Given the description of an element on the screen output the (x, y) to click on. 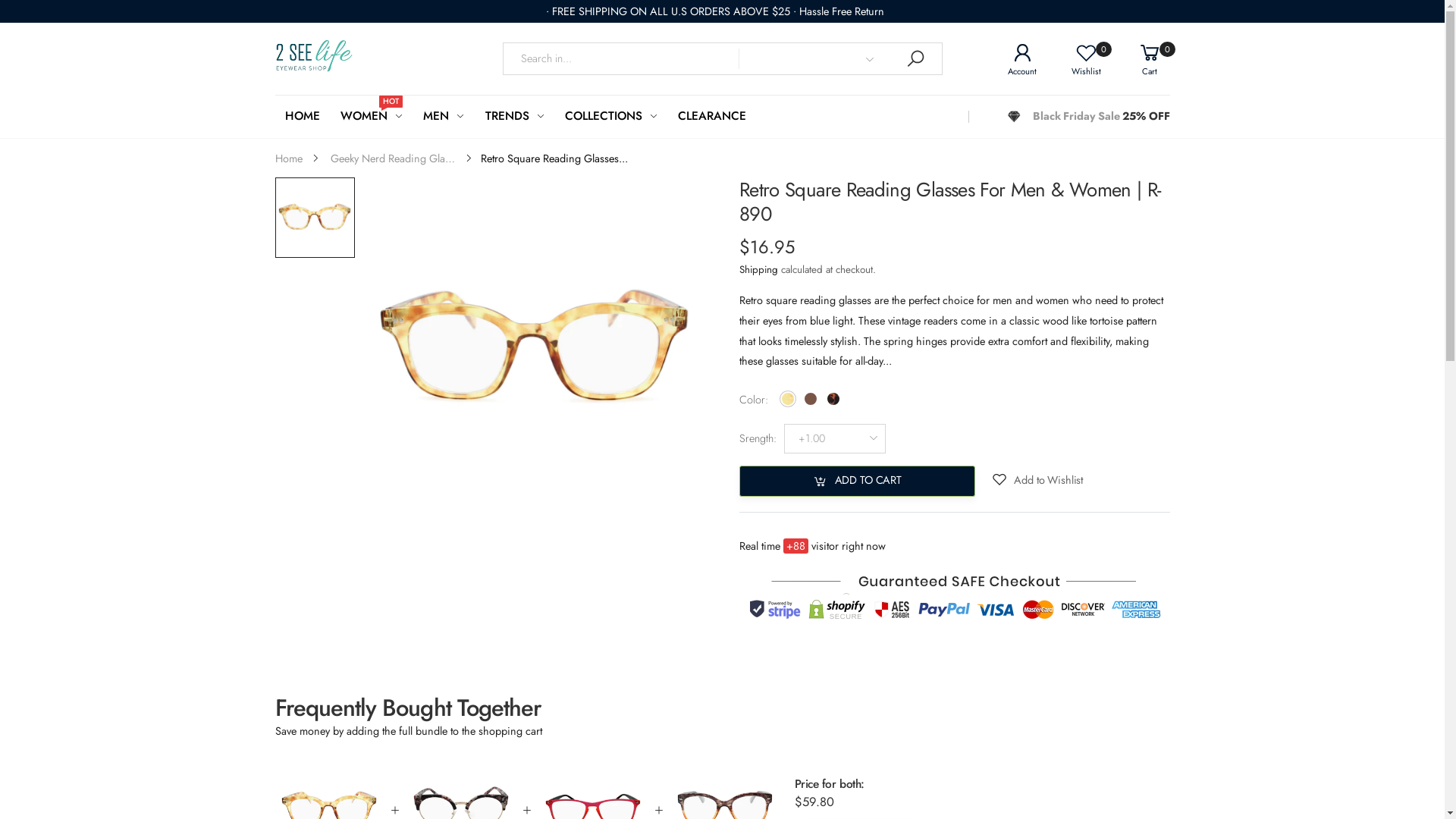
Home Element type: text (287, 158)
Account Element type: text (1010, 58)
TRENDS Element type: text (515, 116)
COLLECTIONS Element type: text (611, 116)
MEN Element type: text (443, 116)
WOMEN
HOT Element type: text (371, 116)
ADD TO CART Element type: text (856, 480)
CLEARANCE Element type: text (711, 116)
Yellow Gold / +1.00 Element type: hover (534, 348)
Shipping Element type: text (757, 269)
0
Cart Element type: text (1138, 58)
Yellow Gold / +1.00 Element type: hover (314, 217)
Geeky Nerd Reading Glasses Element type: text (392, 158)
Black Friday Sale 25% OFF Element type: text (1088, 116)
HOME Element type: text (302, 116)
0
Wishlist Element type: text (1074, 58)
